Given the description of an element on the screen output the (x, y) to click on. 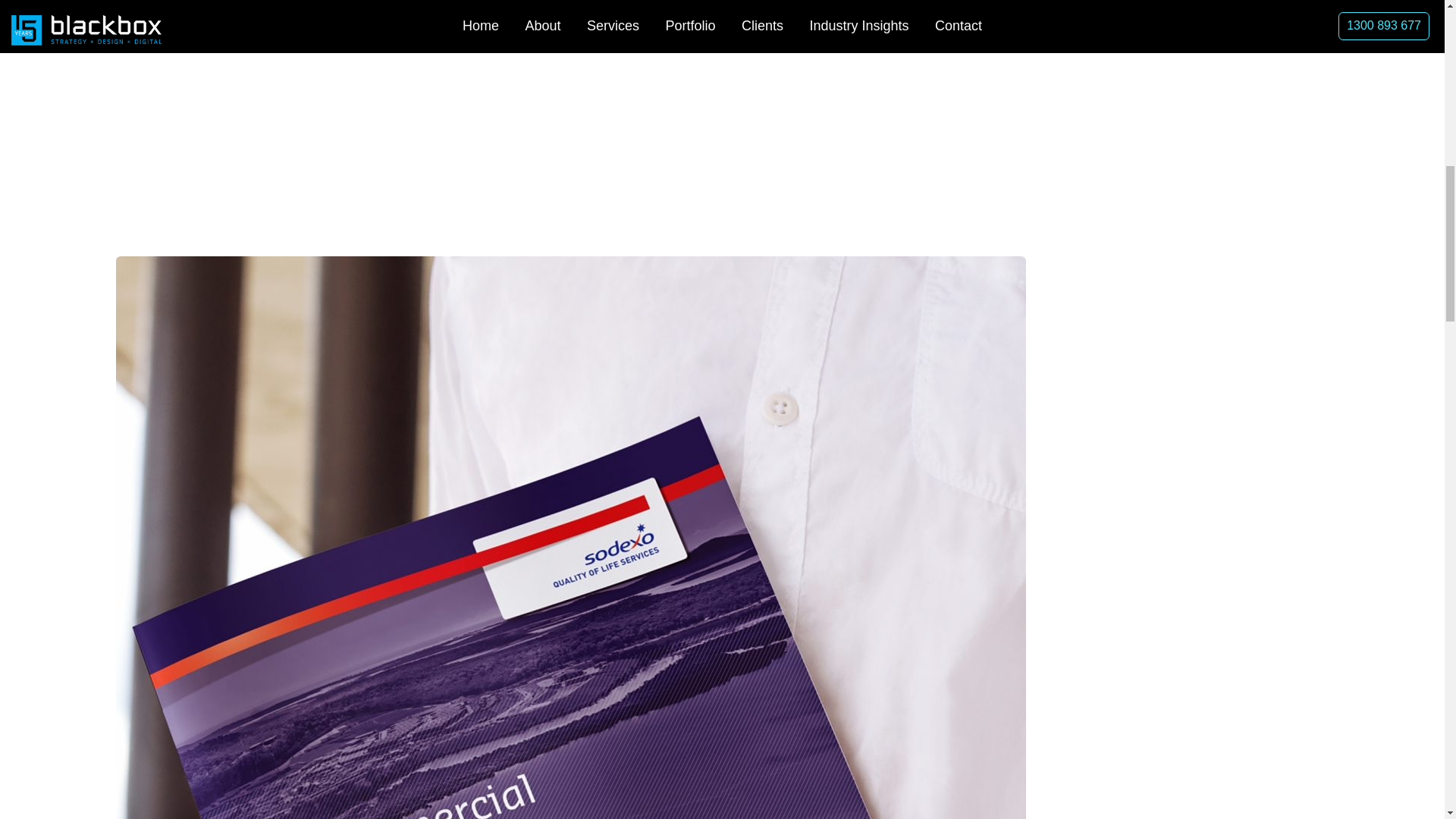
Submit (1119, 233)
